Given the description of an element on the screen output the (x, y) to click on. 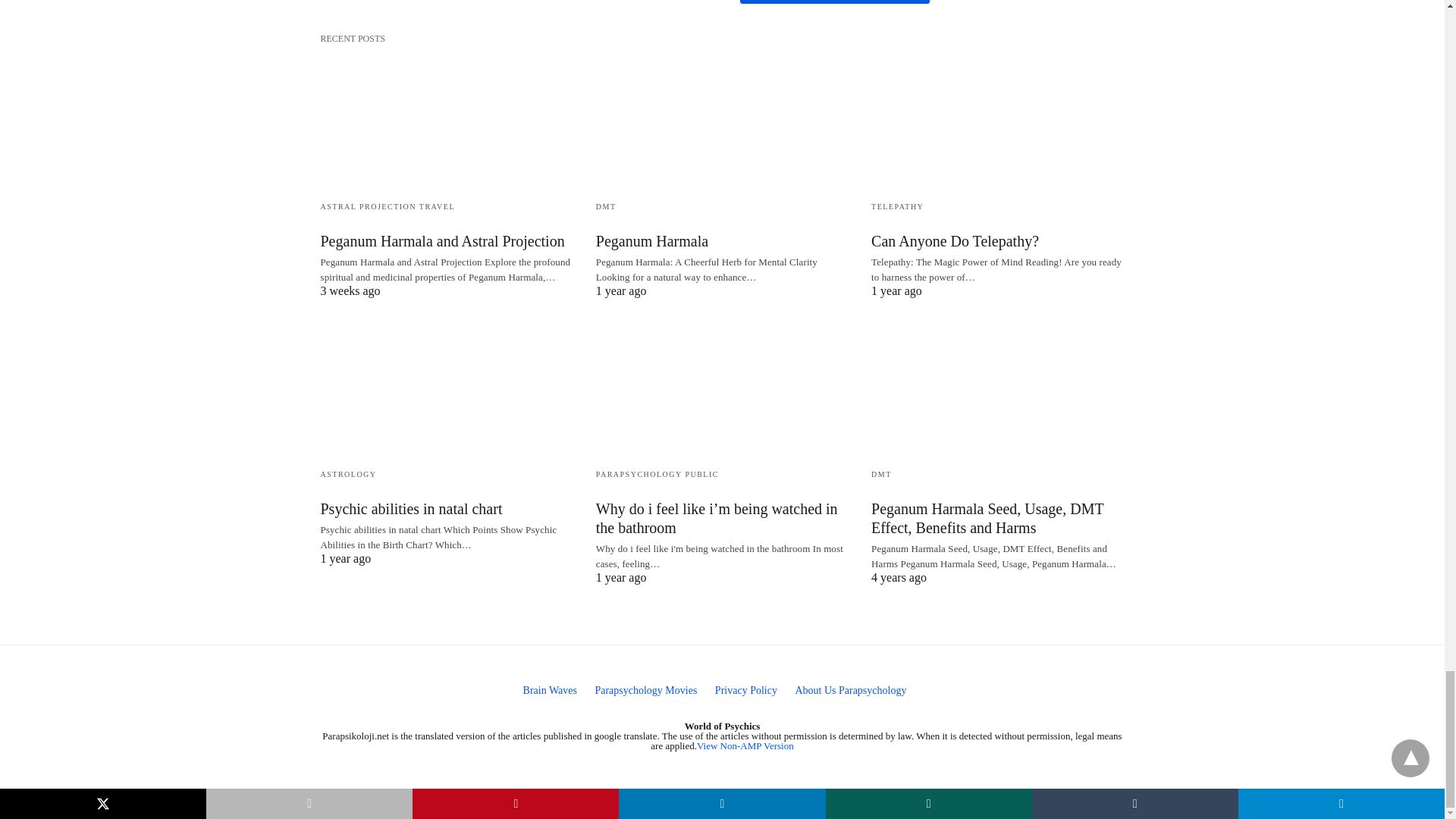
Leave a Comment (834, 2)
Leave a Comment (834, 2)
